Given the description of an element on the screen output the (x, y) to click on. 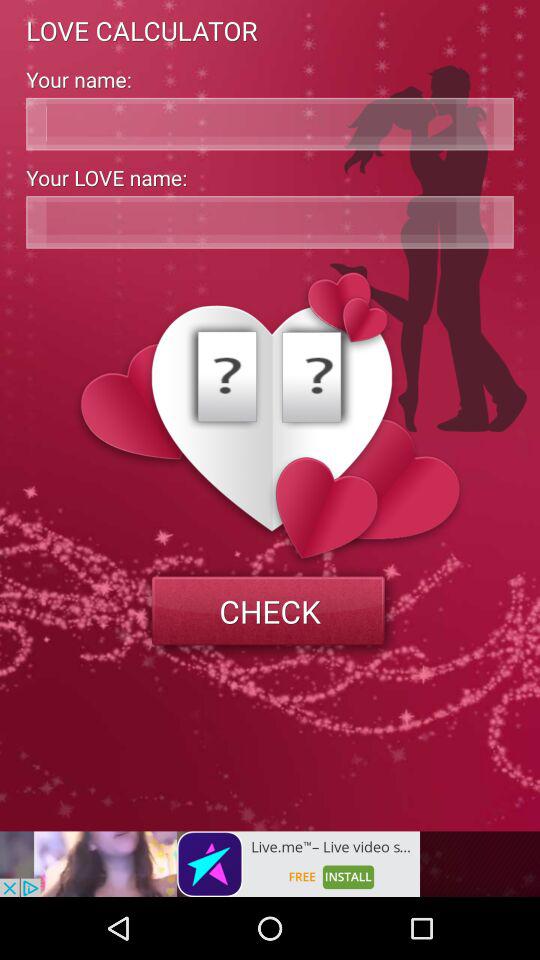
install the option (210, 864)
